Given the description of an element on the screen output the (x, y) to click on. 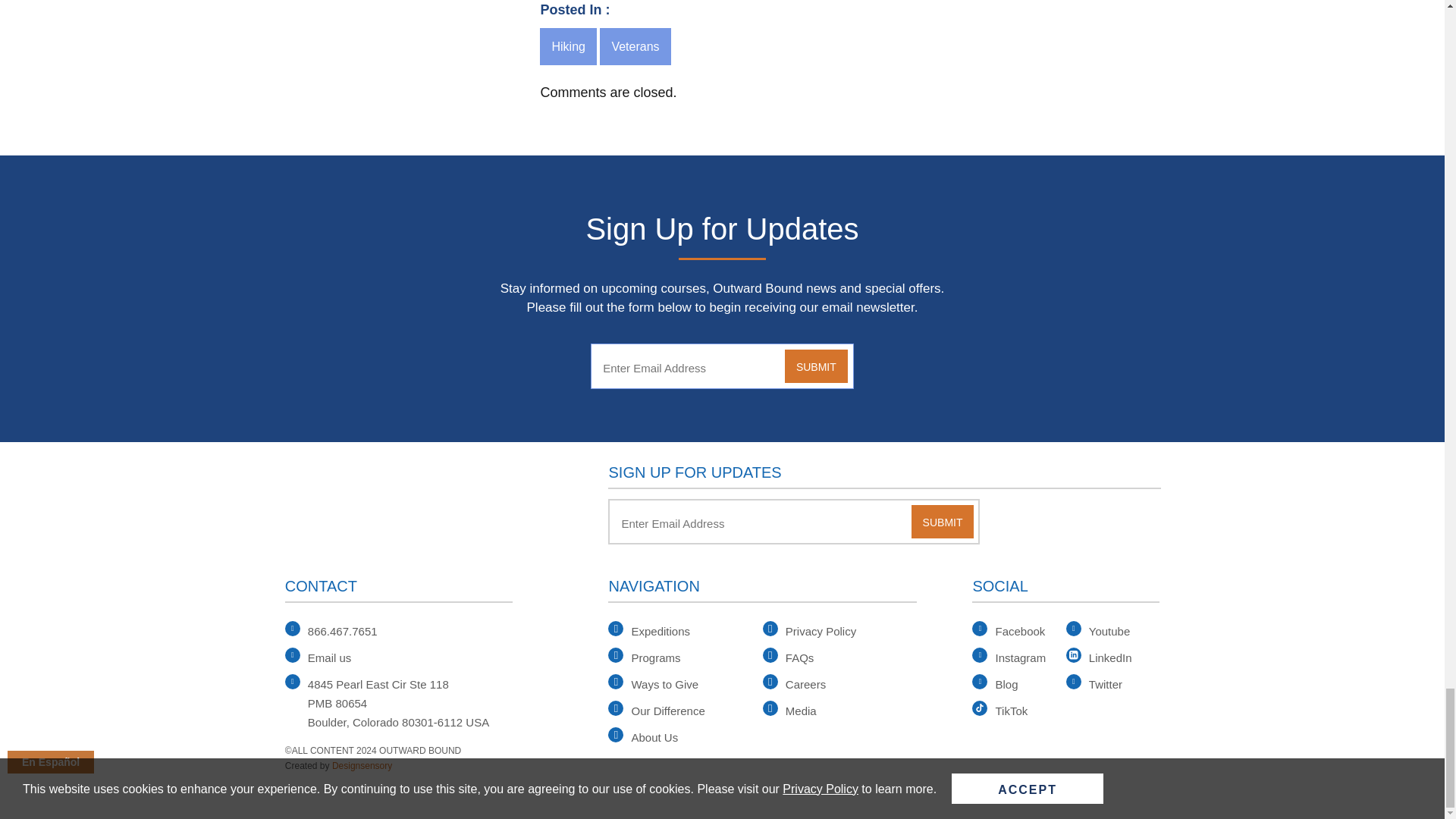
SUBMIT (815, 366)
SUBMIT (942, 521)
